Given the description of an element on the screen output the (x, y) to click on. 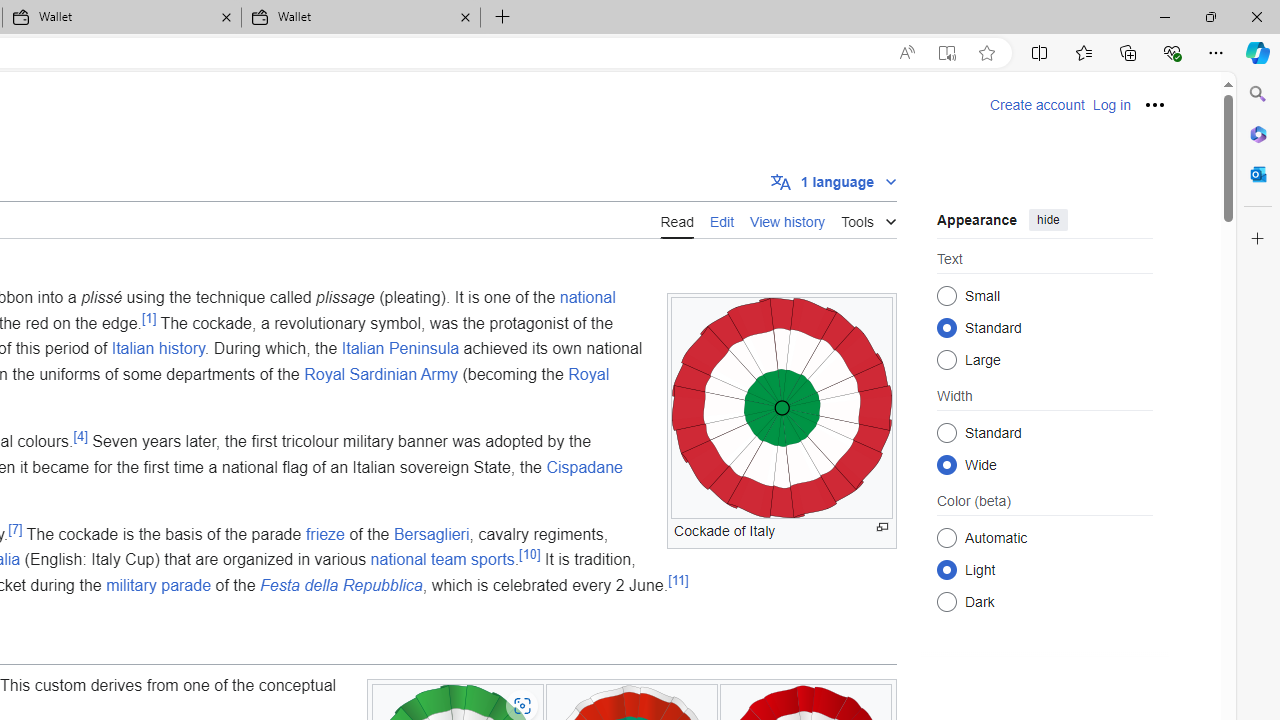
[10] (529, 555)
Personal tools (1155, 104)
Italian history (157, 348)
Tools (868, 218)
Light (946, 569)
national team sports (441, 559)
Dark (946, 601)
Wide (946, 464)
Festa della Repubblica (340, 585)
View history (787, 219)
